Given the description of an element on the screen output the (x, y) to click on. 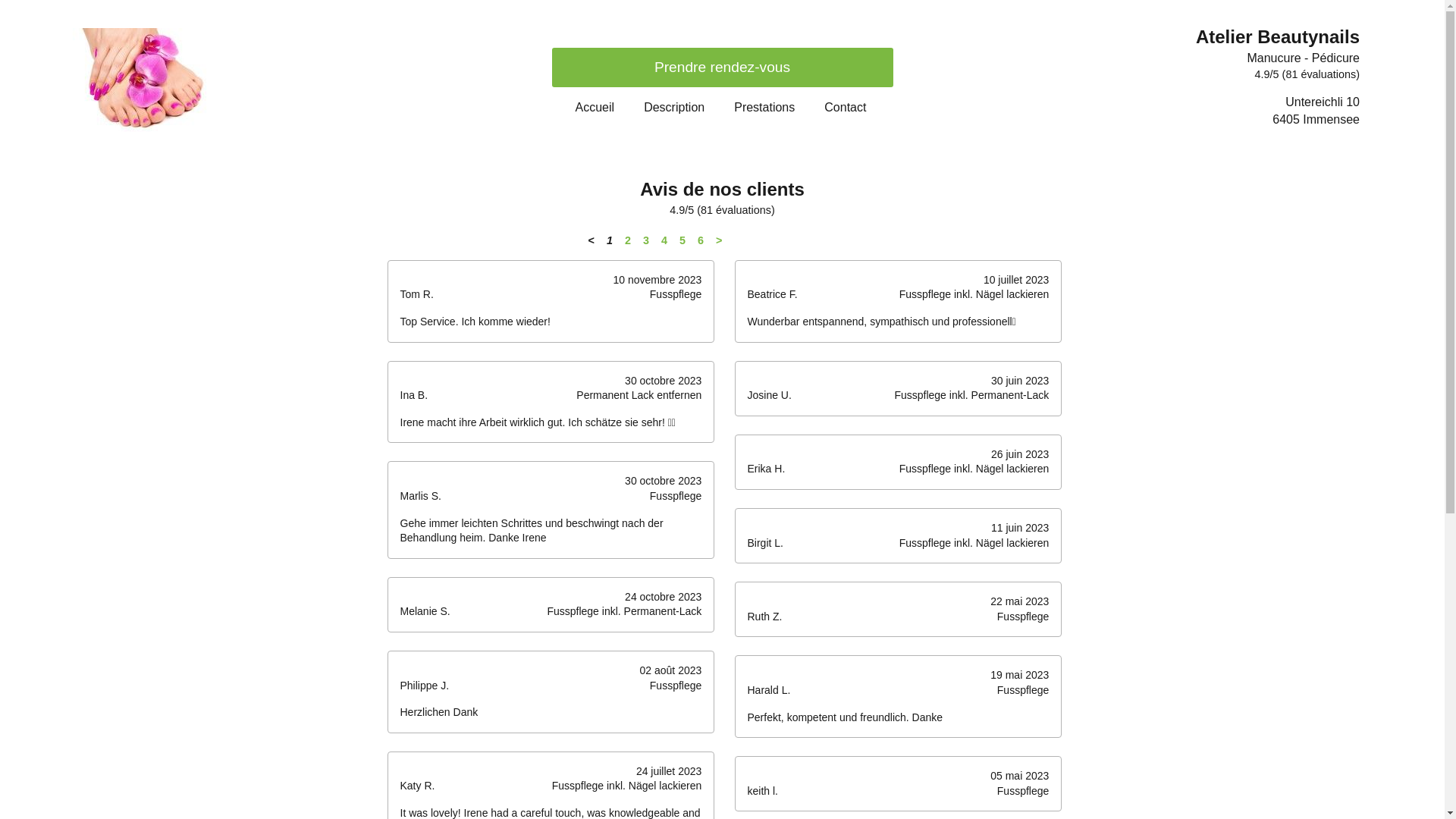
Accueil Element type: text (595, 106)
> Element type: text (718, 240)
Untereichli 10
6405 Immensee Element type: text (1315, 110)
4 Element type: text (664, 240)
Contact Element type: text (845, 106)
Prestations Element type: text (764, 106)
2 Element type: text (627, 240)
3 Element type: text (646, 240)
5 Element type: text (682, 240)
Description Element type: text (673, 106)
6 Element type: text (700, 240)
Prendre rendez-vous Element type: text (722, 67)
